Given the description of an element on the screen output the (x, y) to click on. 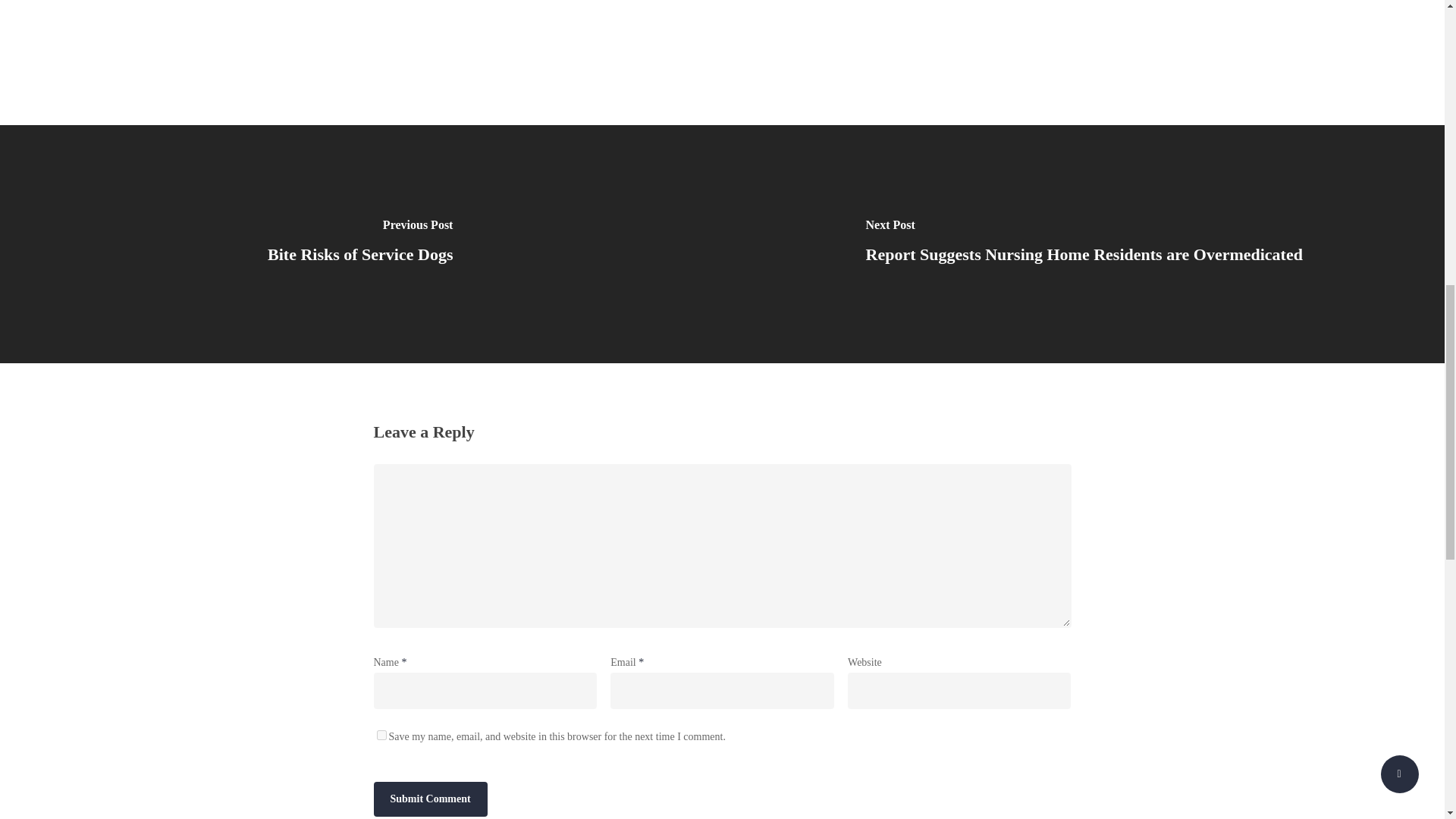
Submit Comment (429, 799)
yes (380, 735)
Submit Comment (429, 799)
